Given the description of an element on the screen output the (x, y) to click on. 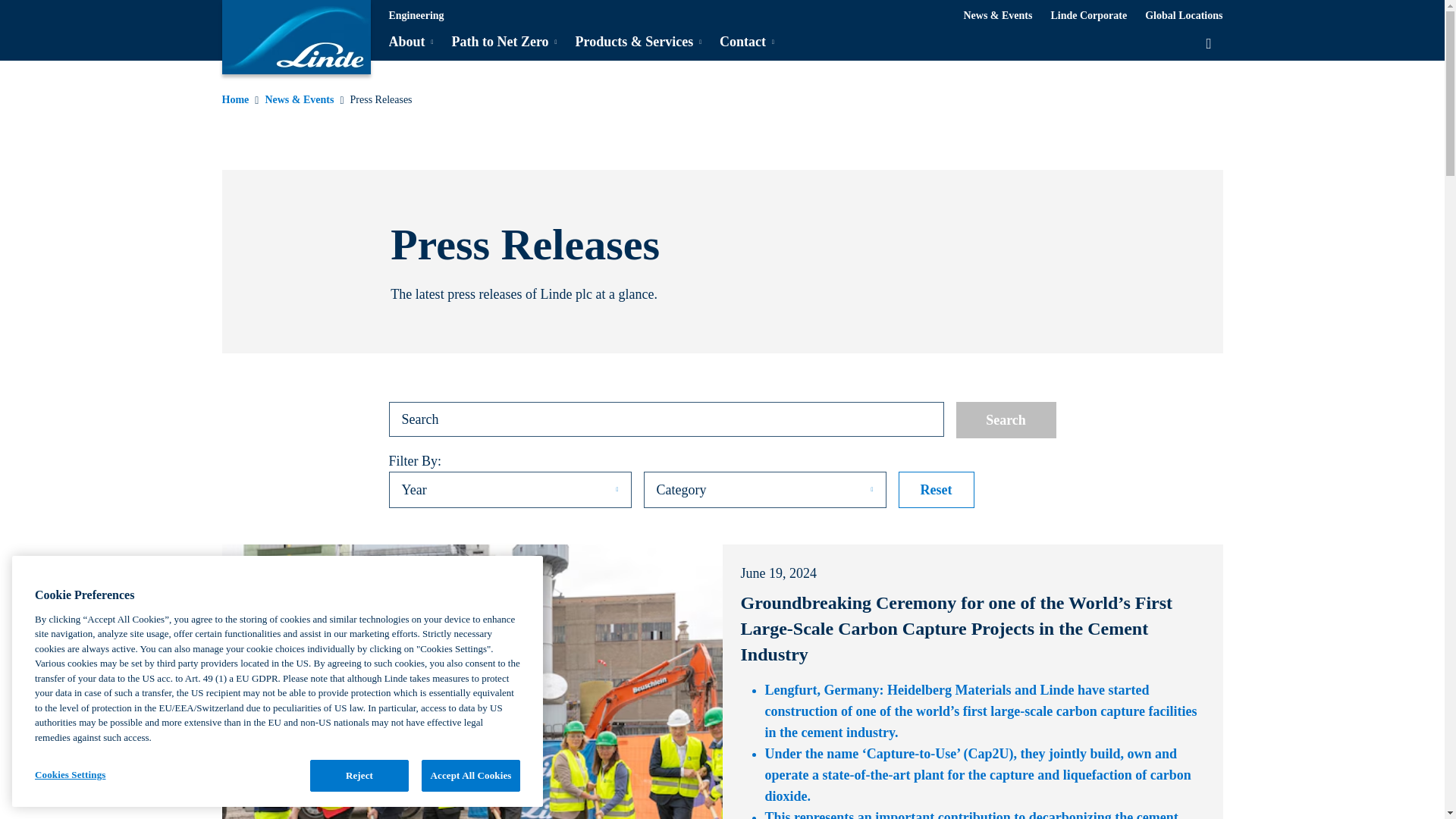
Global Locations (1183, 15)
Linde Corporate (1087, 15)
